Given the description of an element on the screen output the (x, y) to click on. 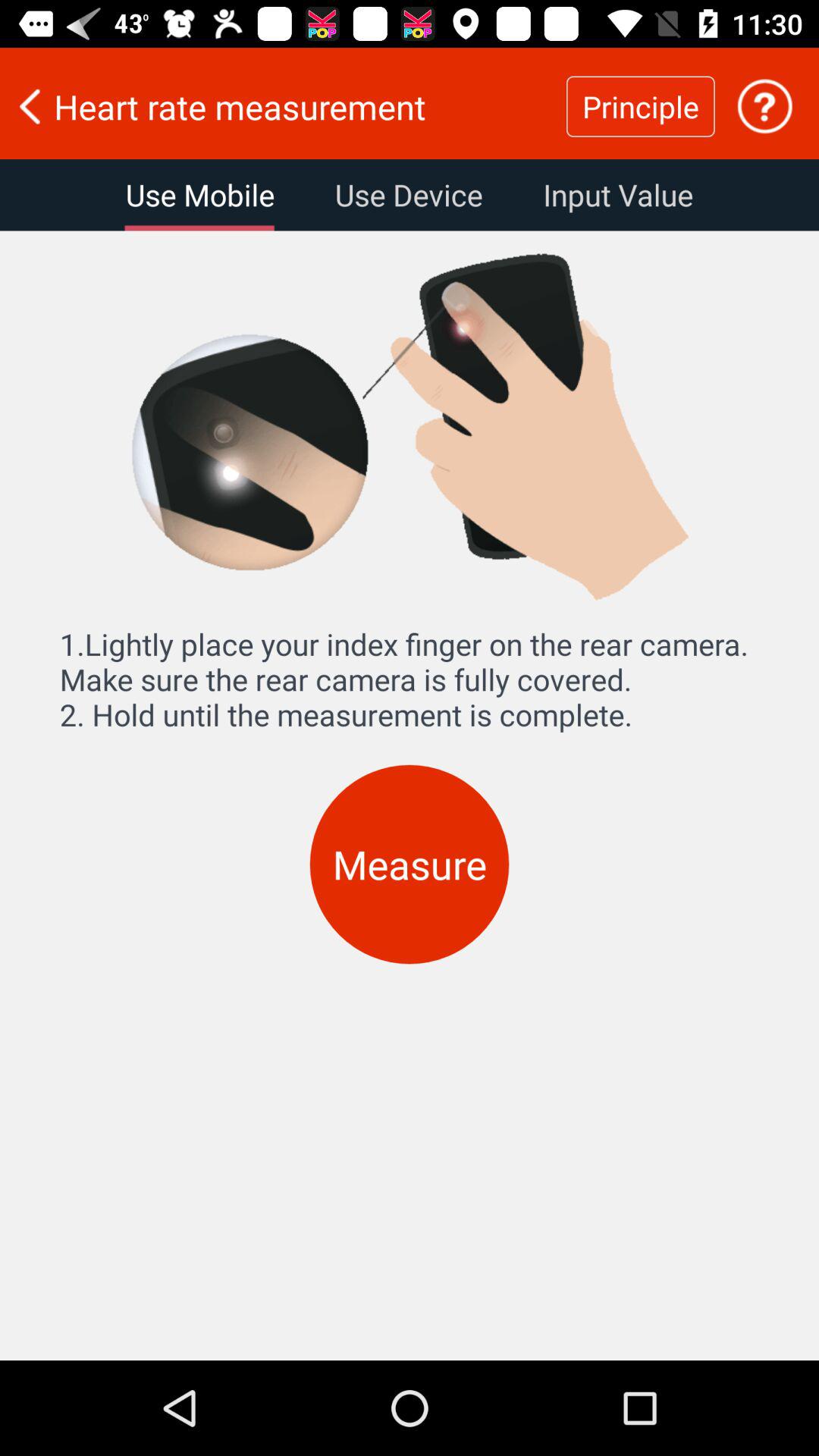
help (764, 106)
